Given the description of an element on the screen output the (x, y) to click on. 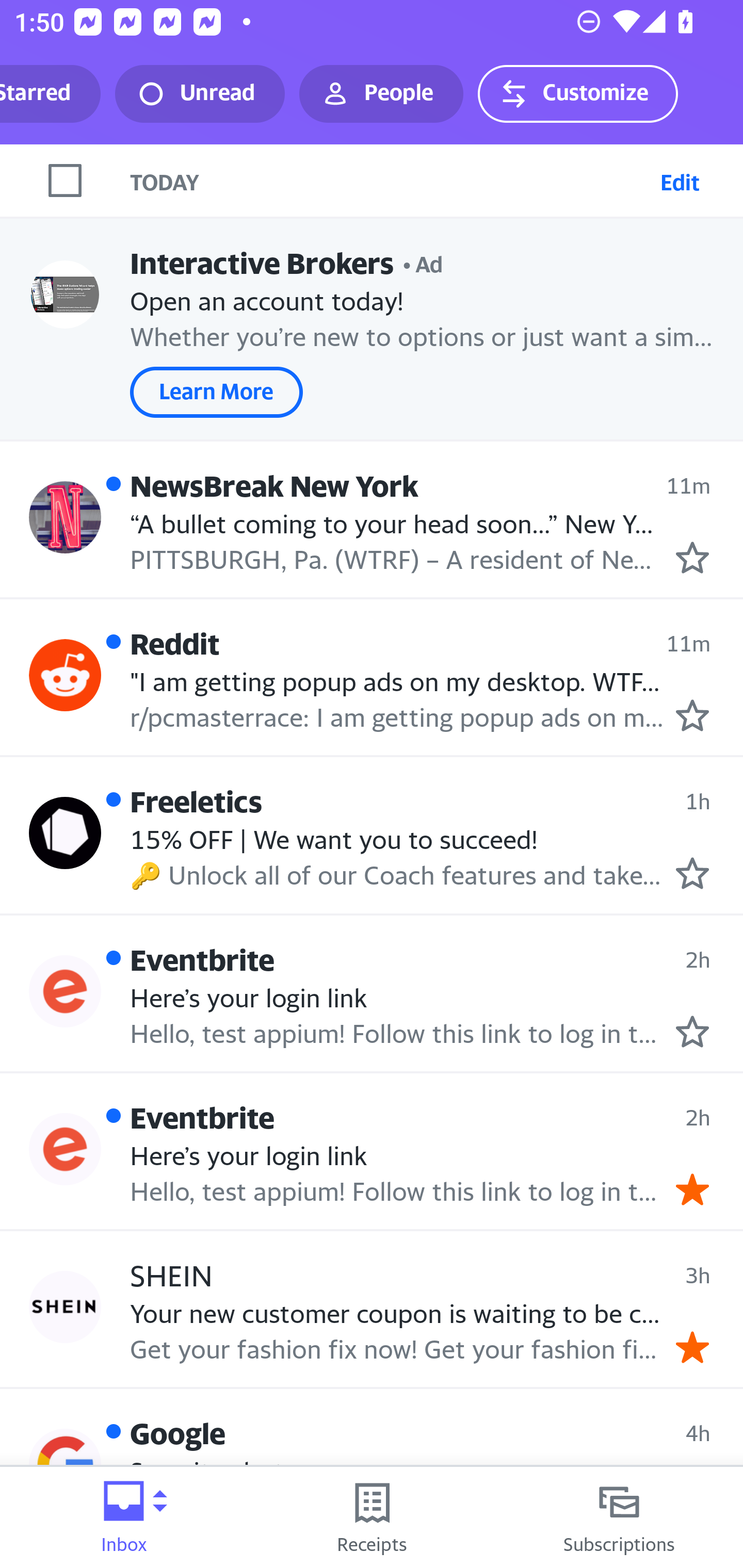
Unread (199, 93)
People (381, 93)
Customize (577, 93)
TODAY (391, 180)
Edit Select emails (679, 180)
Profile
NewsBreak New York (64, 517)
Mark as starred. (692, 557)
Profile
Reddit (64, 675)
Mark as starred. (692, 715)
Profile
Freeletics (64, 832)
Mark as starred. (692, 872)
Profile
Eventbrite (64, 990)
Mark as starred. (692, 1030)
Profile
Eventbrite (64, 1149)
Remove star. (692, 1189)
Profile
SHEIN (64, 1307)
Remove star. (692, 1347)
Inbox Folder picker (123, 1517)
Receipts (371, 1517)
Subscriptions (619, 1517)
